Given the description of an element on the screen output the (x, y) to click on. 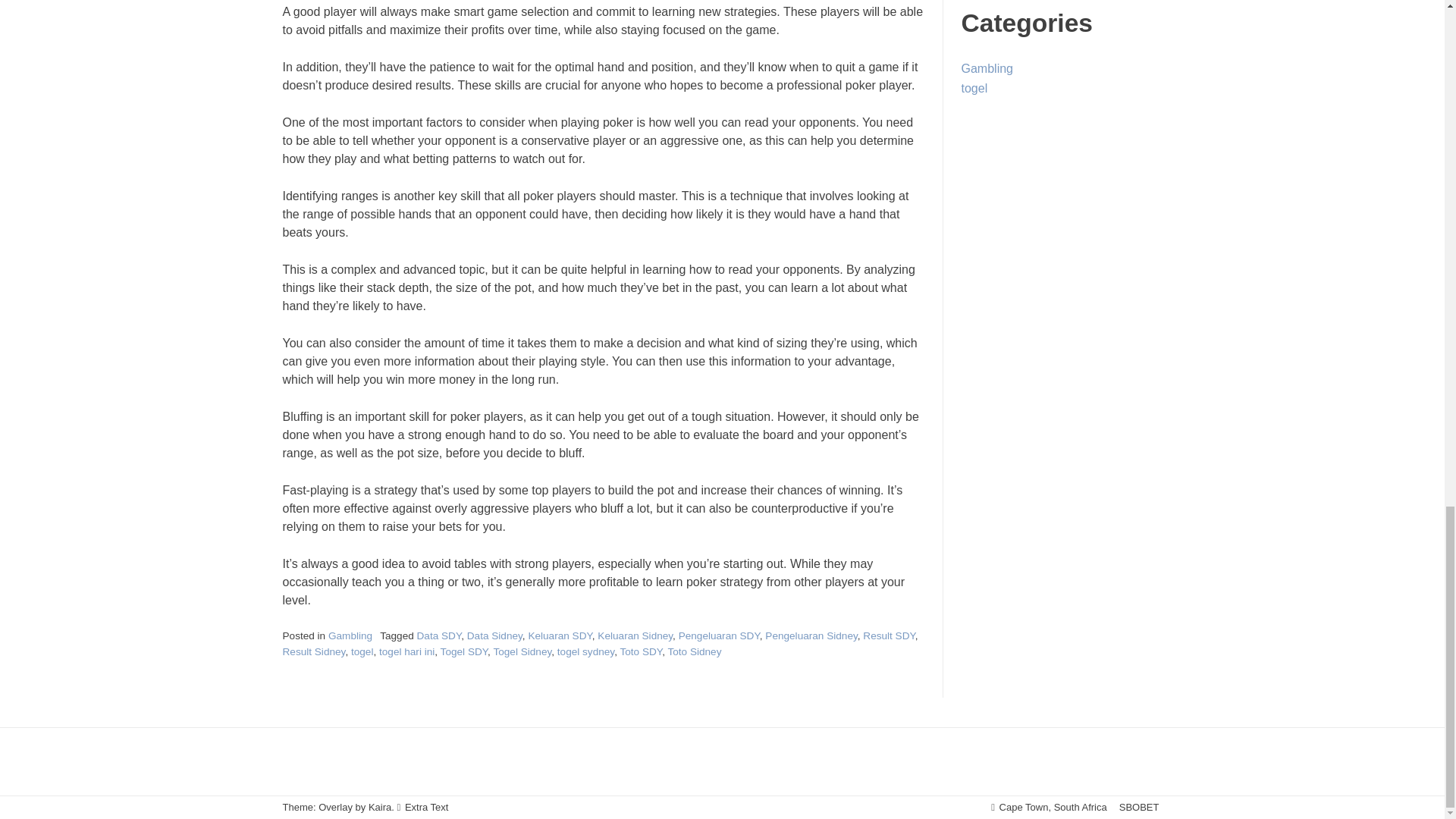
Gambling (350, 635)
Keluaran Sidney (634, 635)
Data SDY (438, 635)
Data Sidney (494, 635)
Keluaran SDY (559, 635)
Result SDY (889, 635)
Pengeluaran SDY (719, 635)
Pengeluaran Sidney (811, 635)
